Given the description of an element on the screen output the (x, y) to click on. 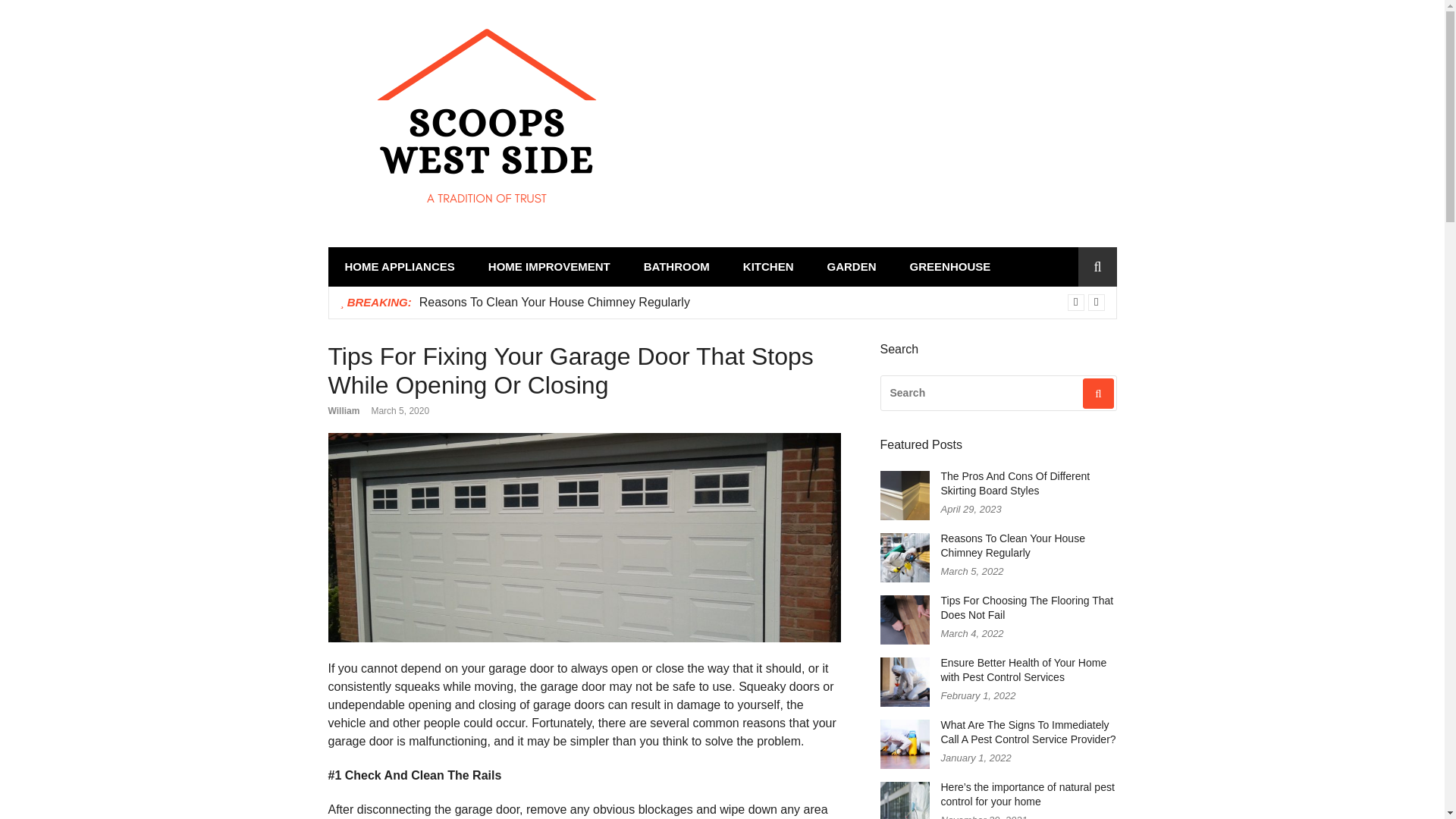
Ensure Better Health of Your Home with Pest Control Services (1023, 669)
BATHROOM (676, 267)
HOME APPLIANCES (398, 267)
Reasons To Clean Your House Chimney Regularly (554, 301)
GREENHOUSE (950, 267)
Reasons To Clean Your House Chimney Regularly (554, 301)
Tips For Choosing The Flooring That Does Not Fail  (1026, 607)
William (343, 410)
KITCHEN (768, 267)
